Given the description of an element on the screen output the (x, y) to click on. 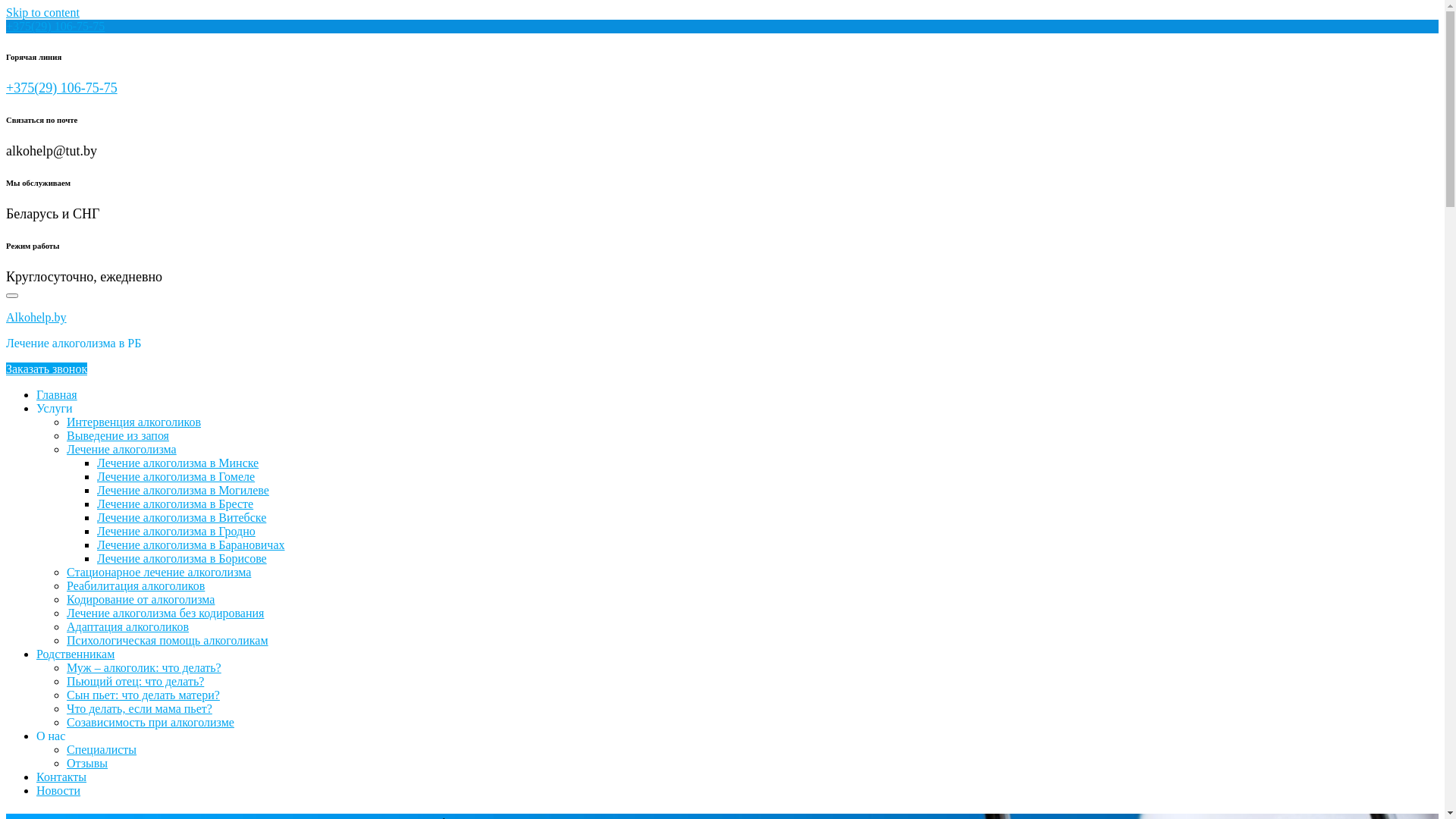
+375(29) 106-75-75 Element type: text (55, 25)
+375(29) 106-75-75 Element type: text (61, 87)
Alkohelp.by Element type: text (36, 316)
Skip to content Element type: text (42, 12)
